Given the description of an element on the screen output the (x, y) to click on. 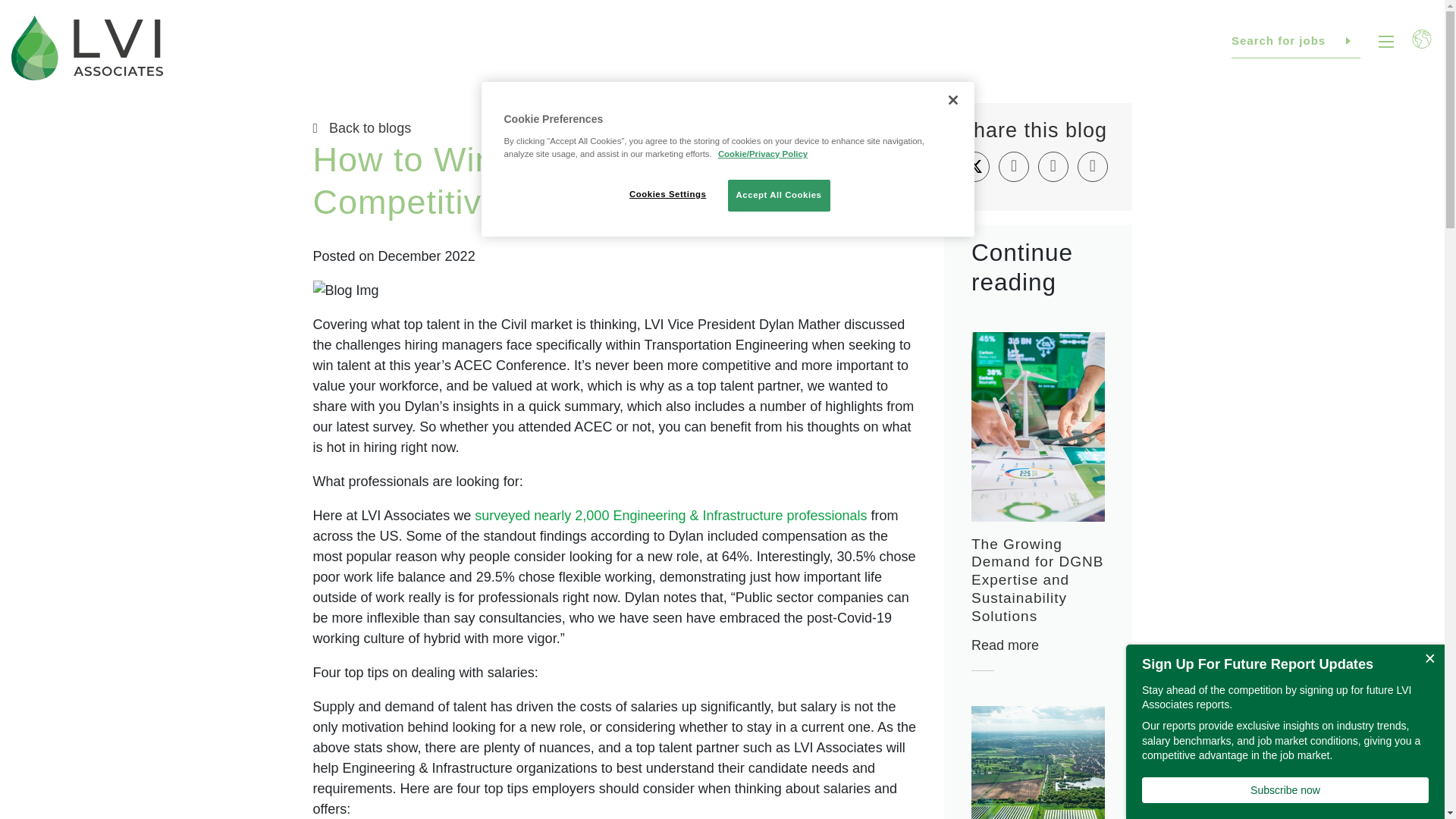
Search for jobs (1295, 41)
Go to the Homepage (79, 577)
WeChat (1393, 715)
Twitter (1291, 715)
Tweet this (974, 166)
share on LinkedIn (1053, 166)
YouTube (1359, 715)
ACEC Conference (510, 365)
Instagram (1324, 715)
share on Facebook (1013, 166)
Go to the Homepage (87, 47)
LVI Associates US (87, 47)
Email (1092, 166)
Facebook (1222, 715)
Back to blogs (615, 127)
